Given the description of an element on the screen output the (x, y) to click on. 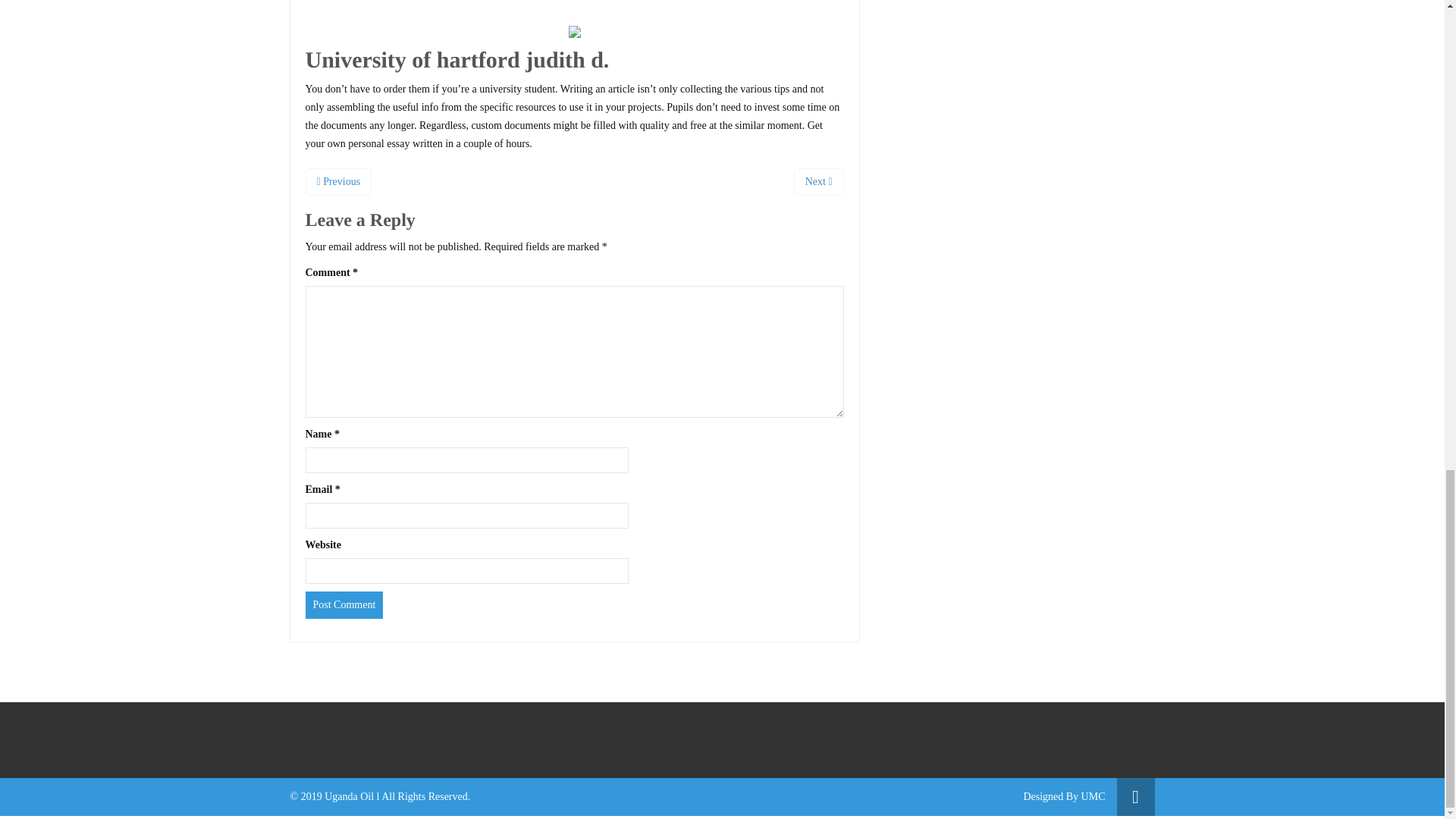
Post Comment (343, 605)
Previous (337, 181)
Next (818, 181)
Post Comment (343, 605)
Value Added News, Information and Knowledge (1093, 796)
UMC (1093, 796)
